Given the description of an element on the screen output the (x, y) to click on. 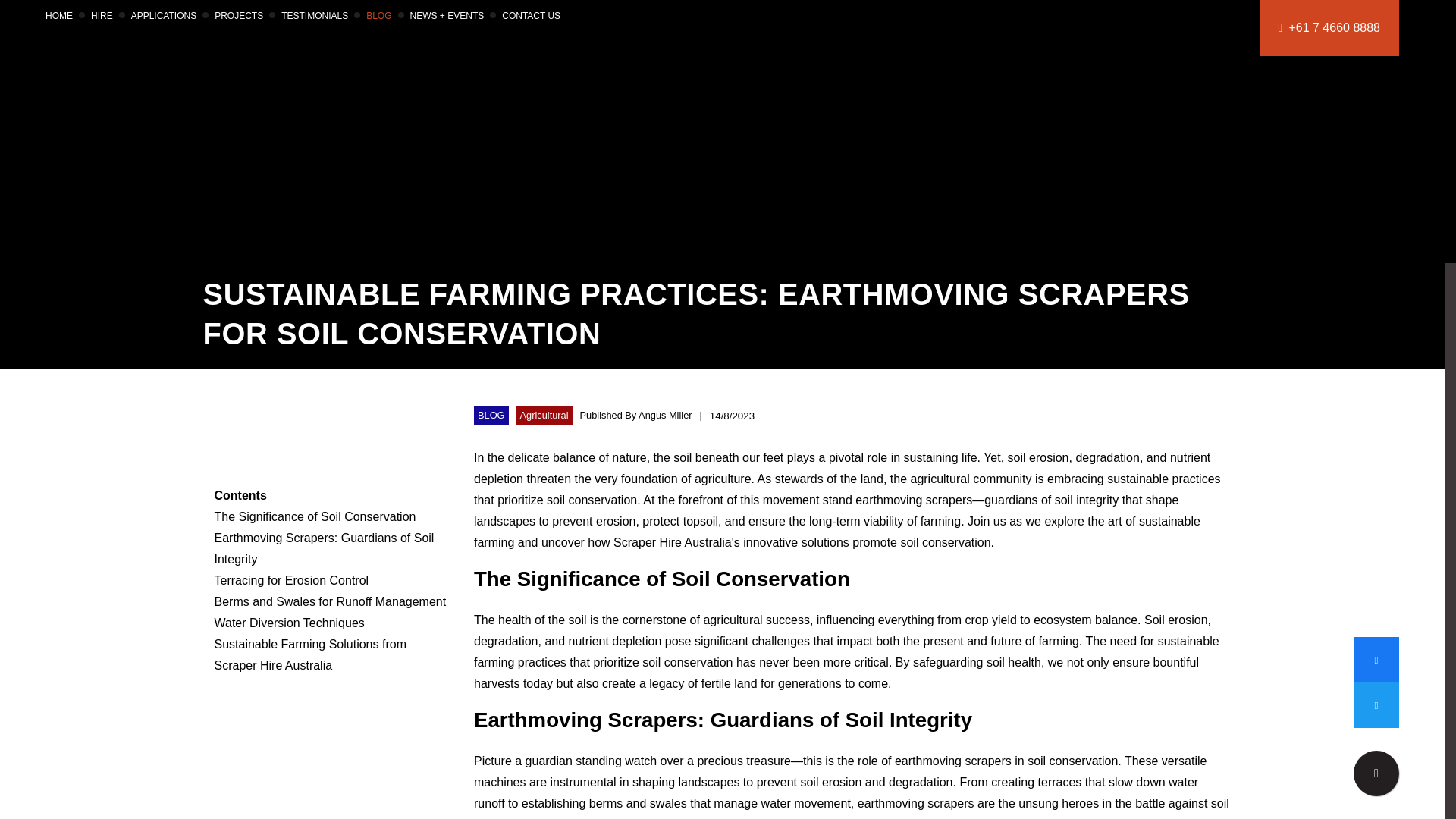
HOME (58, 15)
APPLICATIONS (163, 15)
BLOG (378, 15)
CONTACT US (531, 15)
PROJECTS (238, 15)
HIRE (101, 15)
TESTIMONIALS (314, 15)
